Given the description of an element on the screen output the (x, y) to click on. 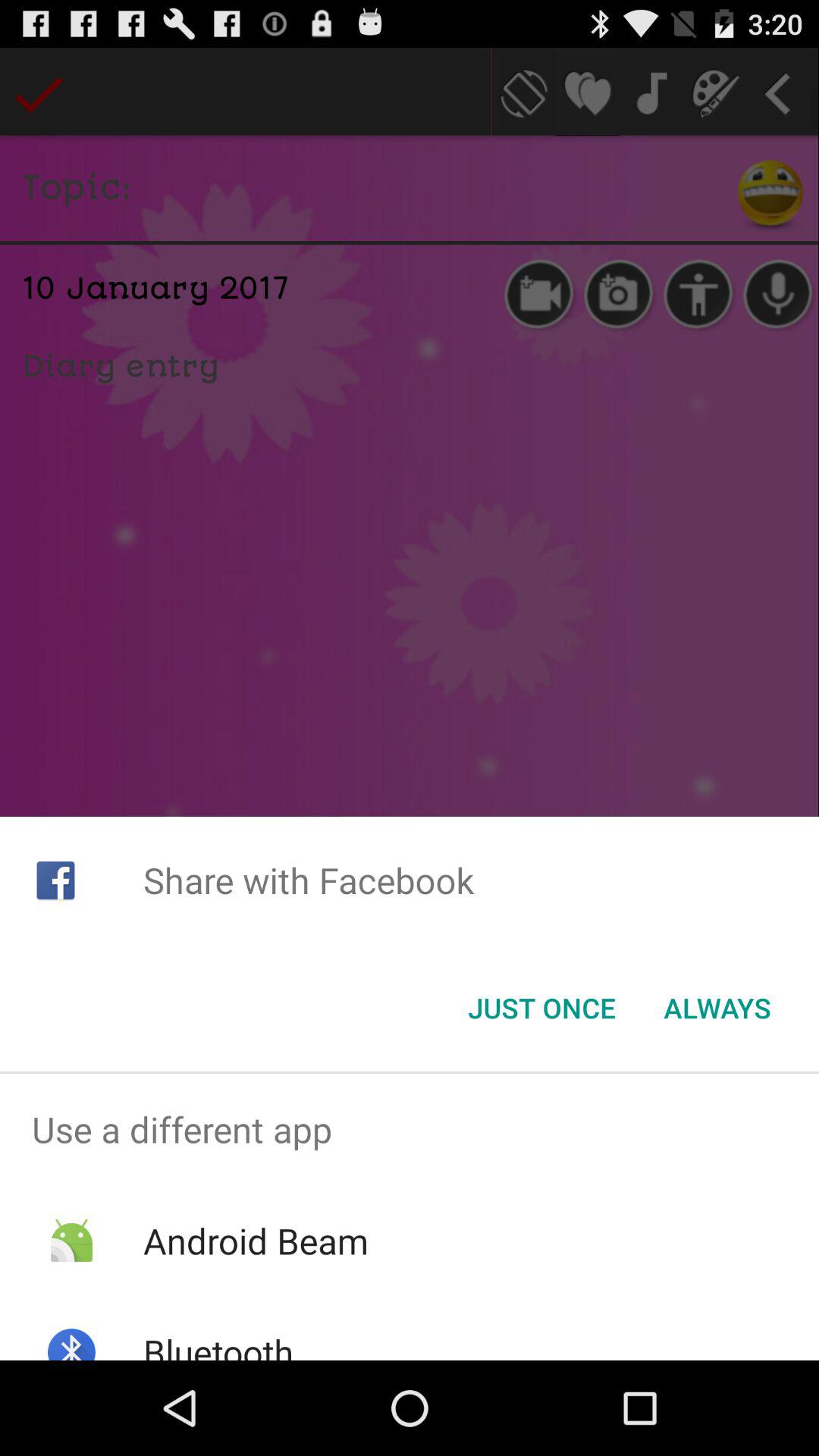
press the icon below the android beam icon (218, 1344)
